Given the description of an element on the screen output the (x, y) to click on. 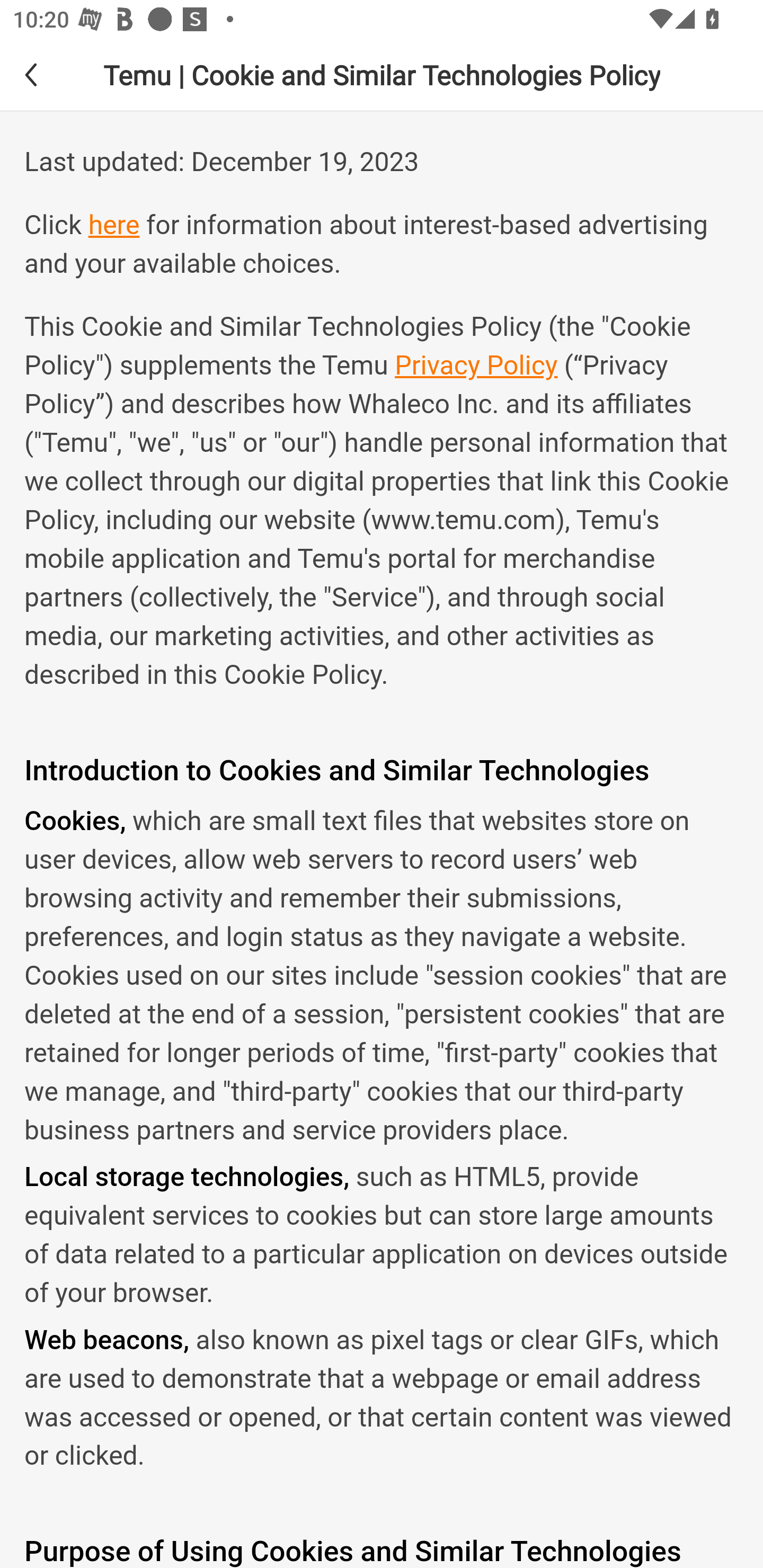
Back back (46, 74)
here (113, 225)
Privacy Policy (475, 365)
